Given the description of an element on the screen output the (x, y) to click on. 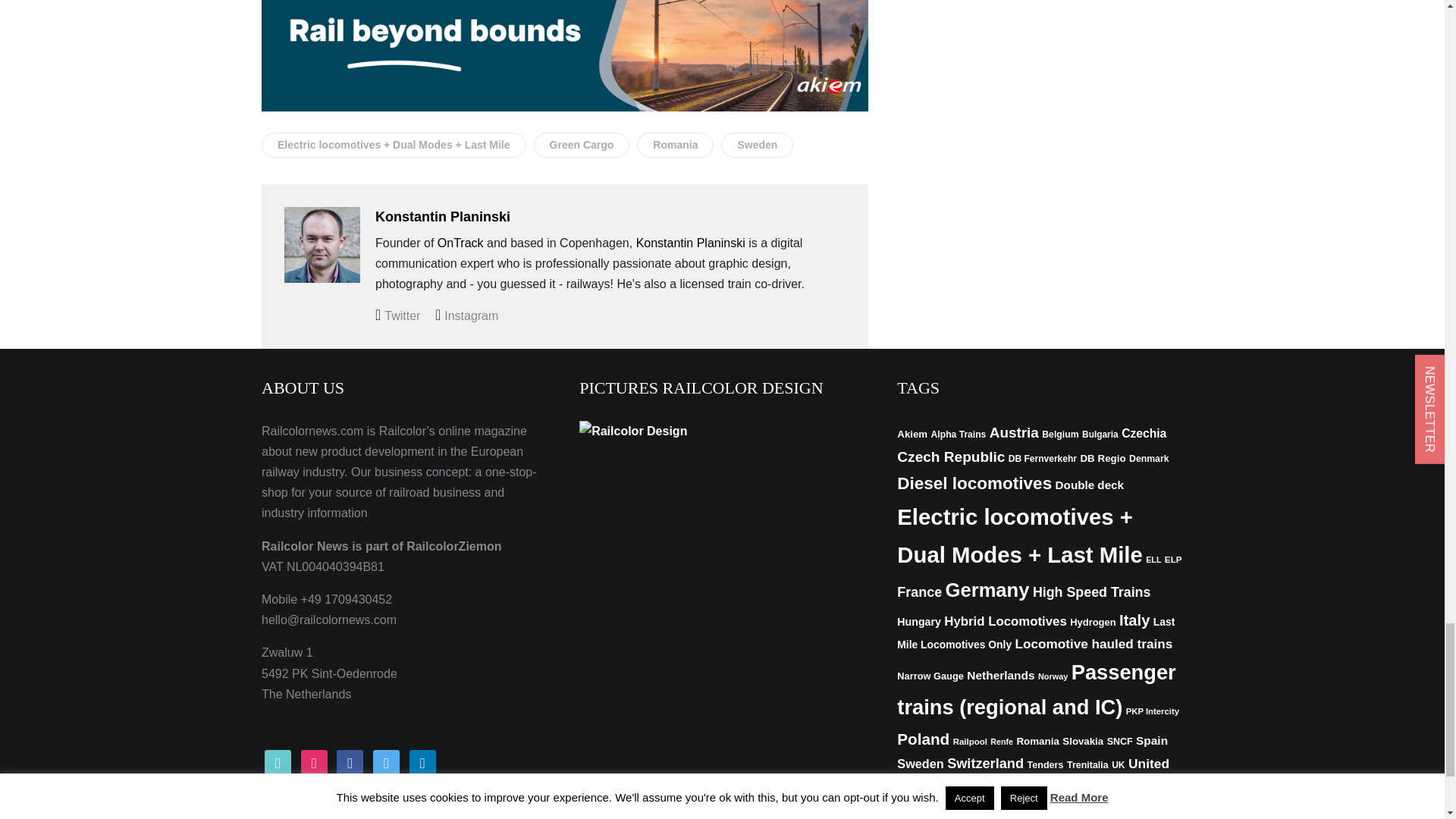
Follow Konstantin Planinski on Twitter (397, 315)
Instagram (466, 315)
Instagram (314, 762)
Facebook (349, 762)
Posts by Konstantin Planinski (443, 216)
